Given the description of an element on the screen output the (x, y) to click on. 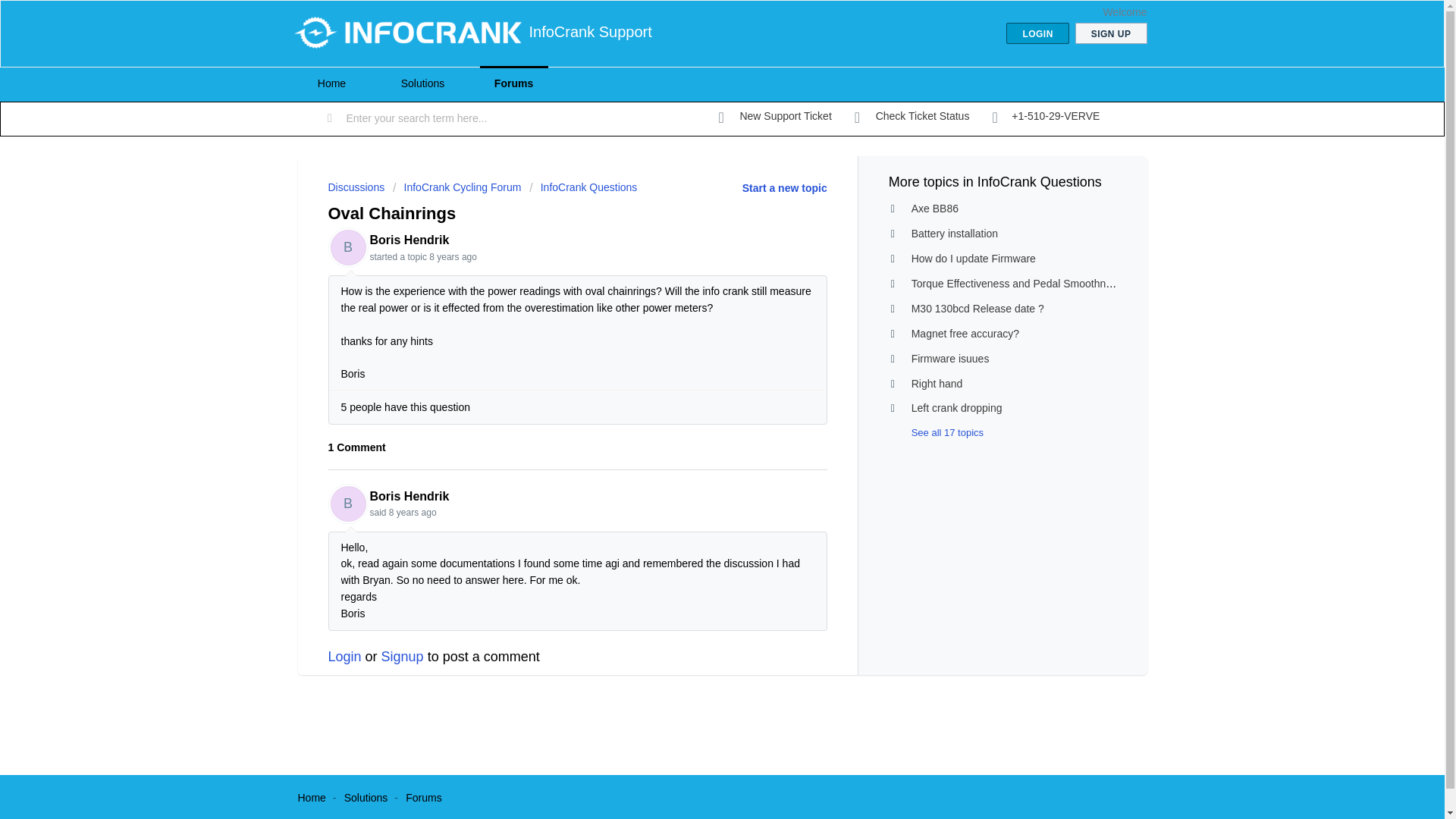
Discussions (355, 186)
Signup (402, 656)
Start a new topic (784, 187)
Solutions (365, 797)
Check Ticket Status (911, 116)
See all 17 topics (936, 432)
M30 130bcd Release date ? (977, 308)
SIGN UP (1111, 33)
Battery installation (954, 233)
Left crank dropping (957, 408)
Right hand (936, 383)
InfoCrank Cycling Forum (457, 186)
Forums (513, 83)
InfoCrank Questions (583, 186)
Forums (423, 797)
